Given the description of an element on the screen output the (x, y) to click on. 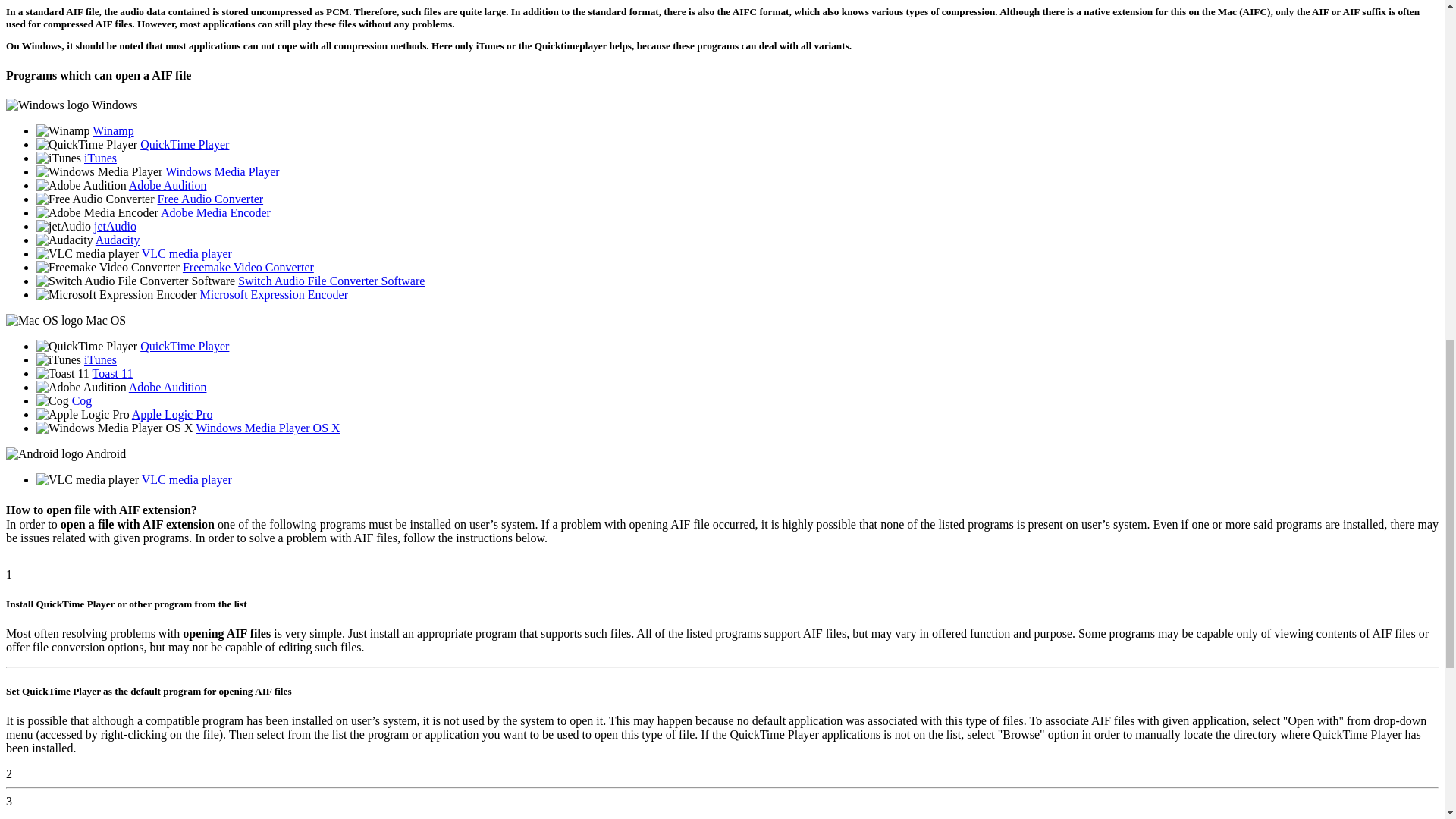
Free Audio Converter (210, 198)
jetAudio (115, 226)
Adobe Media Encoder (215, 212)
Winamp (113, 130)
QuickTime Player (183, 144)
iTunes (100, 157)
Windows Media Player (222, 171)
Adobe Audition (167, 185)
